Given the description of an element on the screen output the (x, y) to click on. 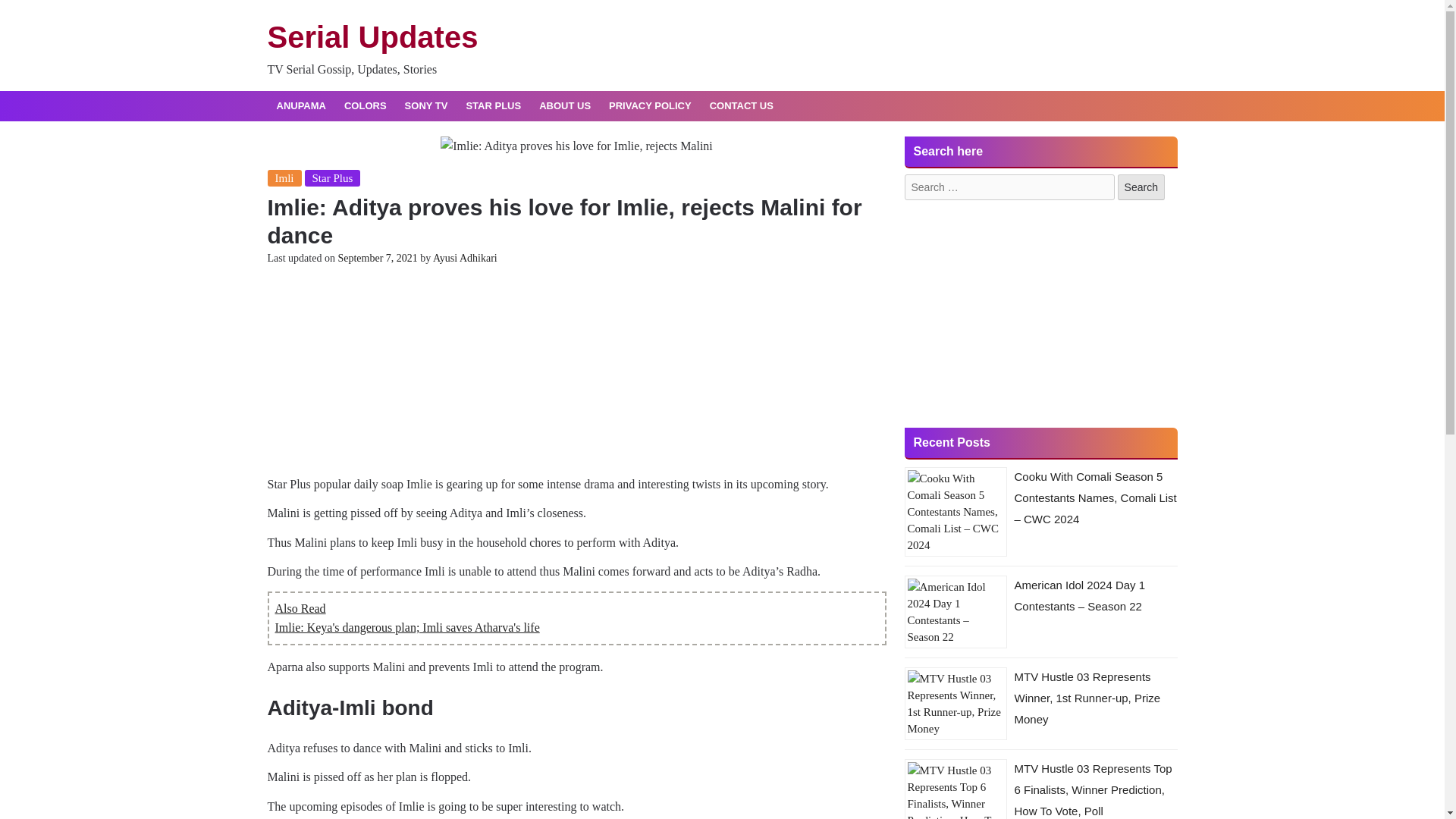
MTV Hustle 03 Represents Winner, 1st Runner-up, Prize Money (1087, 698)
CONTACT US (741, 106)
SONY TV (426, 106)
Star Plus (332, 177)
Search (1141, 186)
ANUPAMA (300, 106)
Search (1141, 186)
PRIVACY POLICY (649, 106)
September 7, 2021 (376, 257)
Serial Updates (371, 37)
STAR PLUS (493, 106)
ABOUT US (564, 106)
Search (1141, 186)
